Given the description of an element on the screen output the (x, y) to click on. 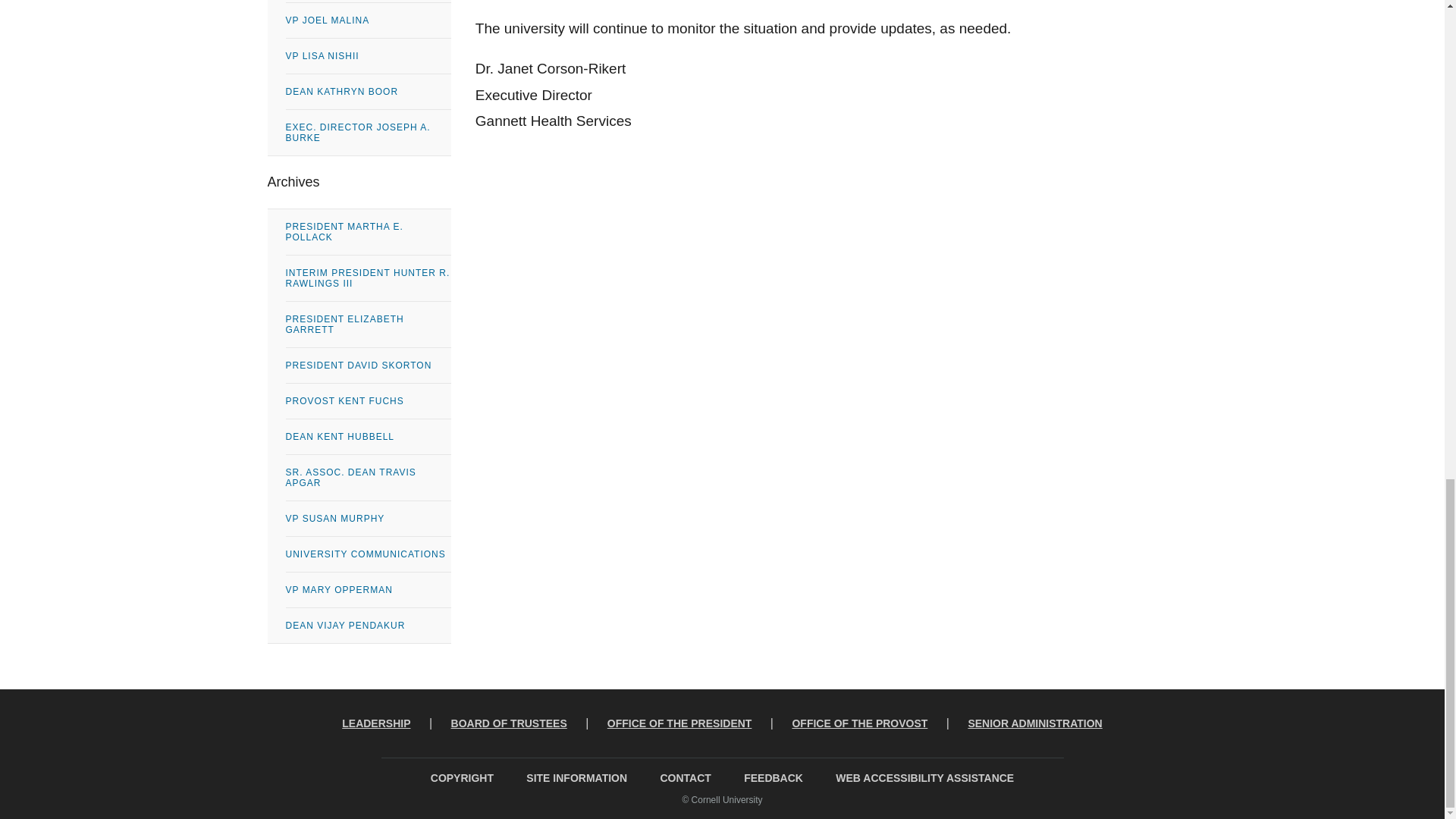
VP LISA NISHII (367, 55)
VP CHRISTINE LOVELY (367, 1)
PROVOST KENT FUCHS (367, 401)
Board of Trustees website (508, 723)
INTERIM PRESIDENT HUNTER R. RAWLINGS III (367, 278)
Archives (357, 182)
VP JOEL MALINA (367, 20)
PRESIDENT ELIZABETH GARRETT (367, 324)
DEAN KATHRYN BOOR (367, 91)
EXEC. DIRECTOR JOSEPH A. BURKE (367, 132)
Web Accessibility Assistance (925, 777)
PRESIDENT MARTHA E. POLLACK (367, 231)
Email the Webmaster with feedback or questions (773, 777)
PRESIDENT DAVID SKORTON (367, 365)
